Given the description of an element on the screen output the (x, y) to click on. 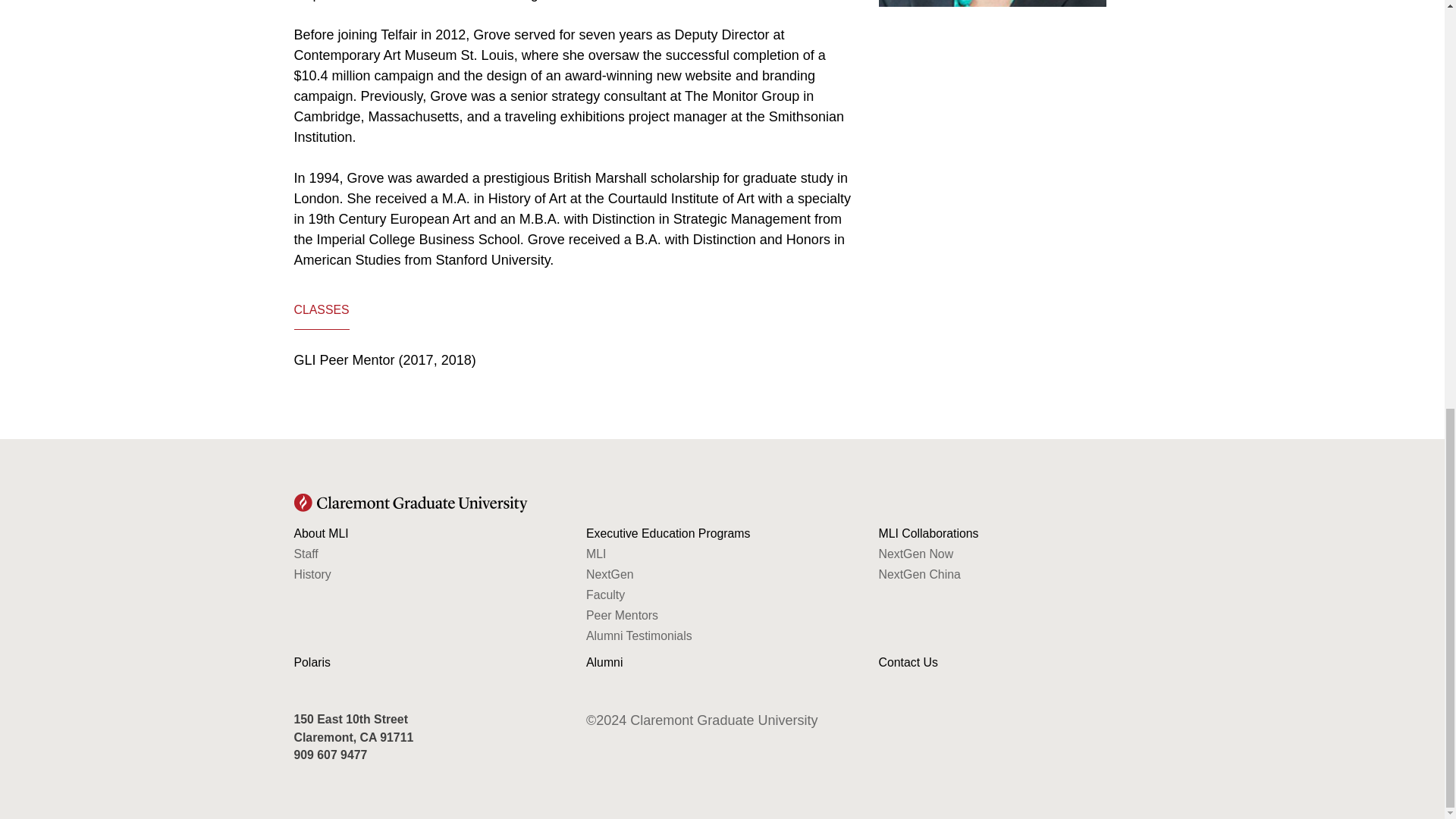
NextGen China (1015, 574)
Alumni Testimonials (722, 635)
Contact Us (1015, 662)
Executive Education Programs (722, 533)
Polaris (430, 662)
MLI (722, 554)
Alumni (722, 662)
Faculty (722, 594)
CLASSES (321, 310)
History (430, 574)
Staff (430, 554)
Peer Mentors (722, 615)
MLI Collaborations (1015, 533)
NextGen Now (1015, 554)
About MLI (430, 533)
